Given the description of an element on the screen output the (x, y) to click on. 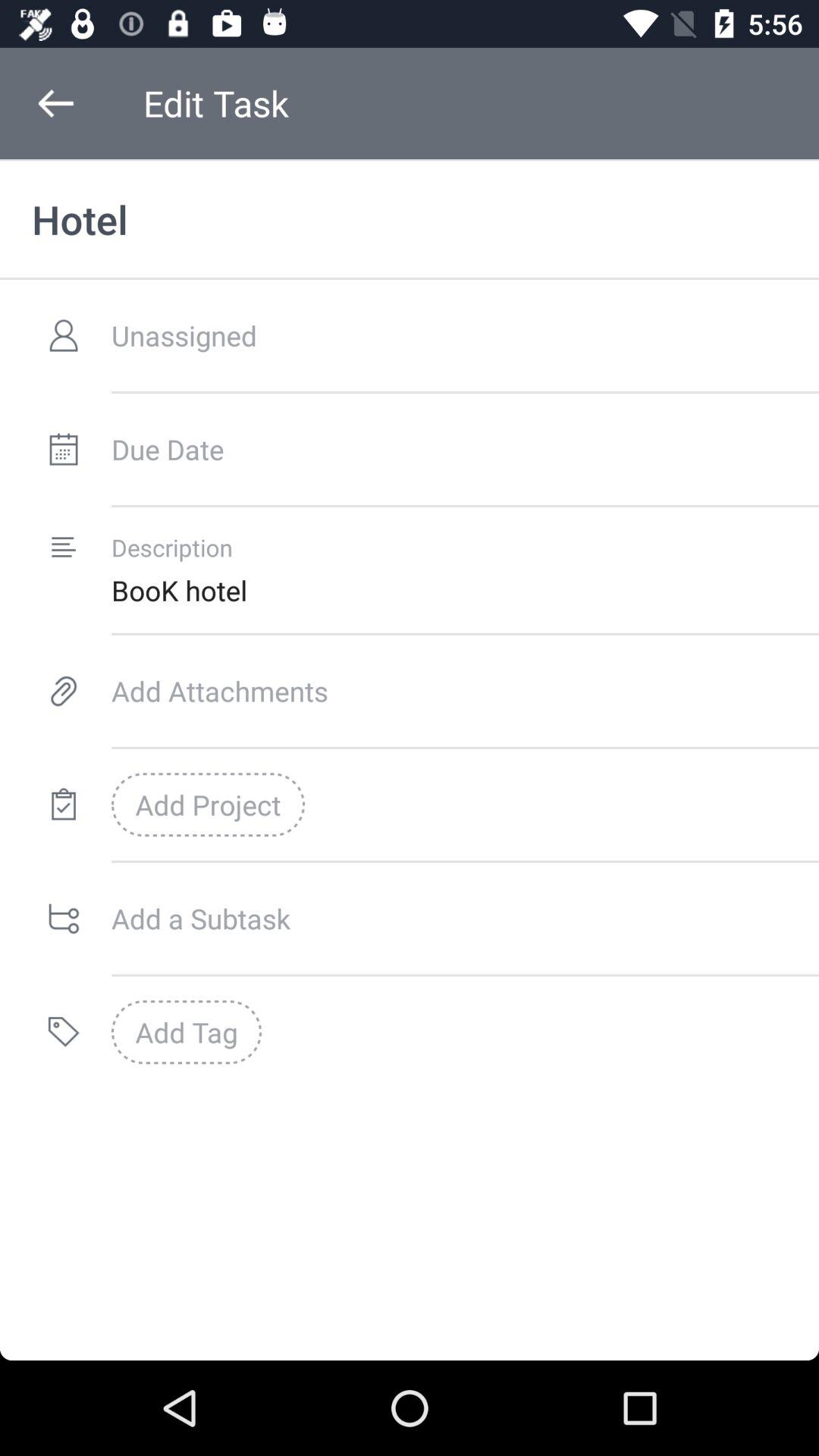
click item next to edit task icon (55, 103)
